Given the description of an element on the screen output the (x, y) to click on. 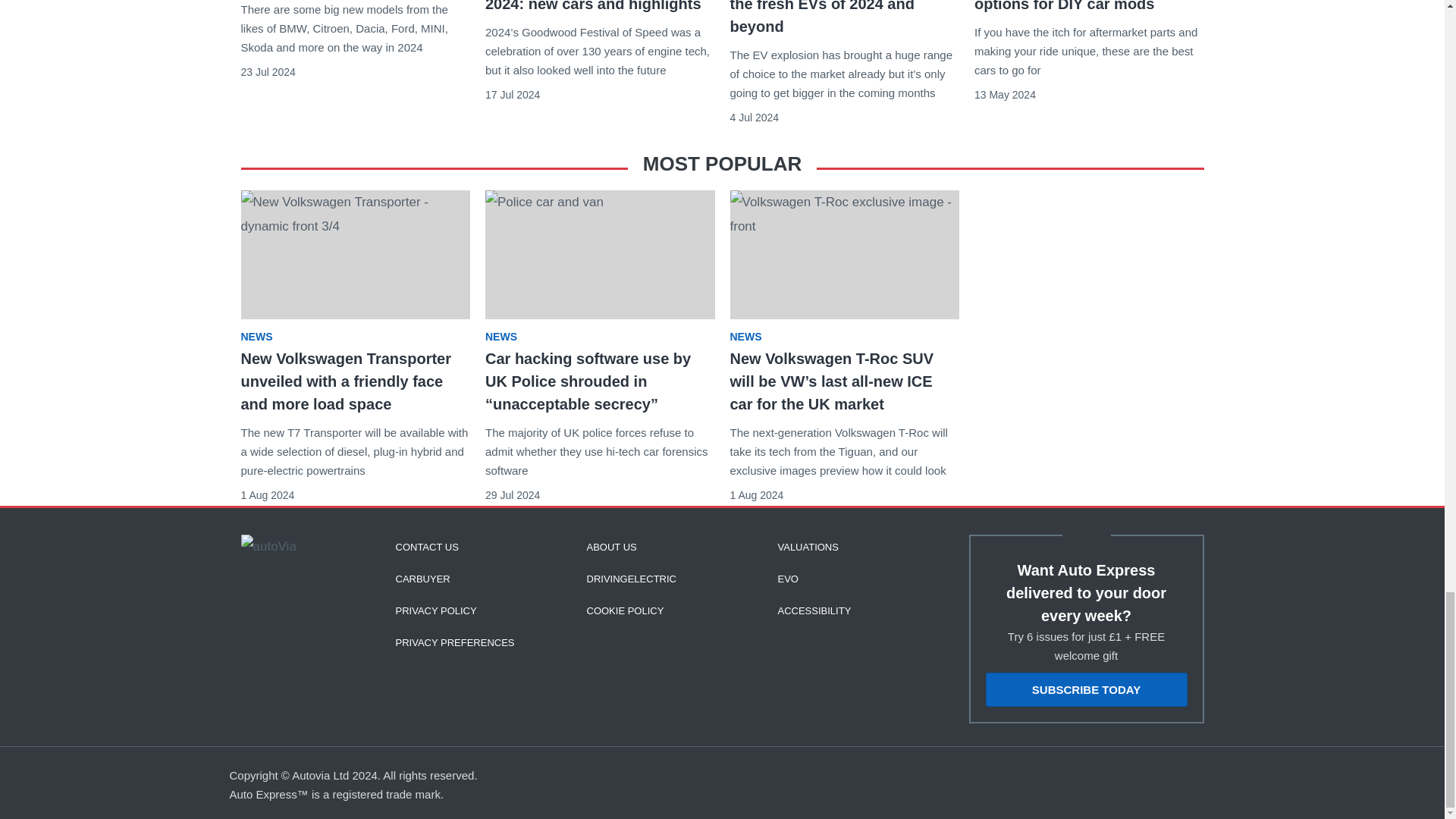
SUBSCRIBE TODAY (1086, 689)
